Given the description of an element on the screen output the (x, y) to click on. 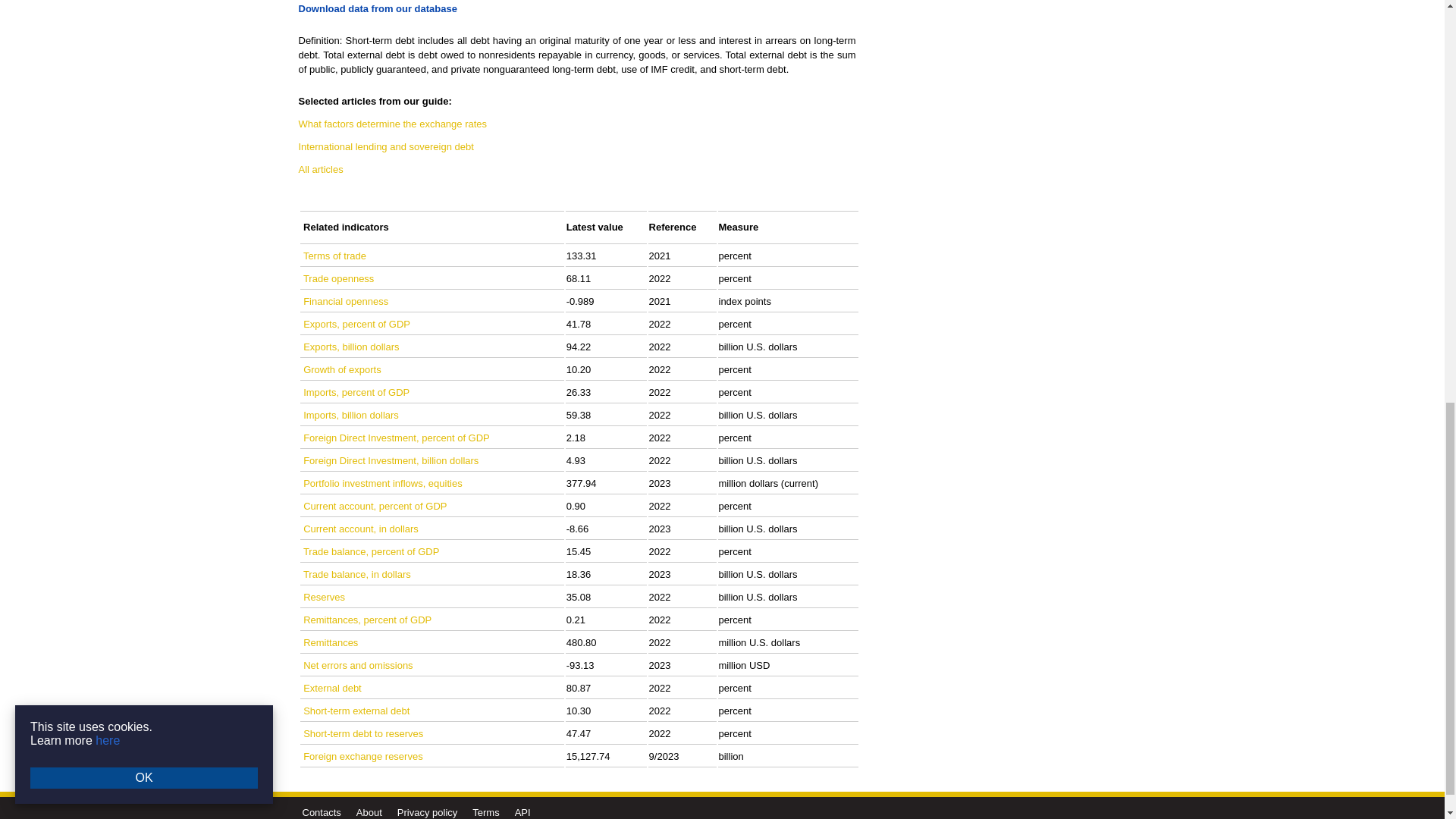
Download data from our database (377, 8)
What factors determine the exchange rates (392, 123)
